Given the description of an element on the screen output the (x, y) to click on. 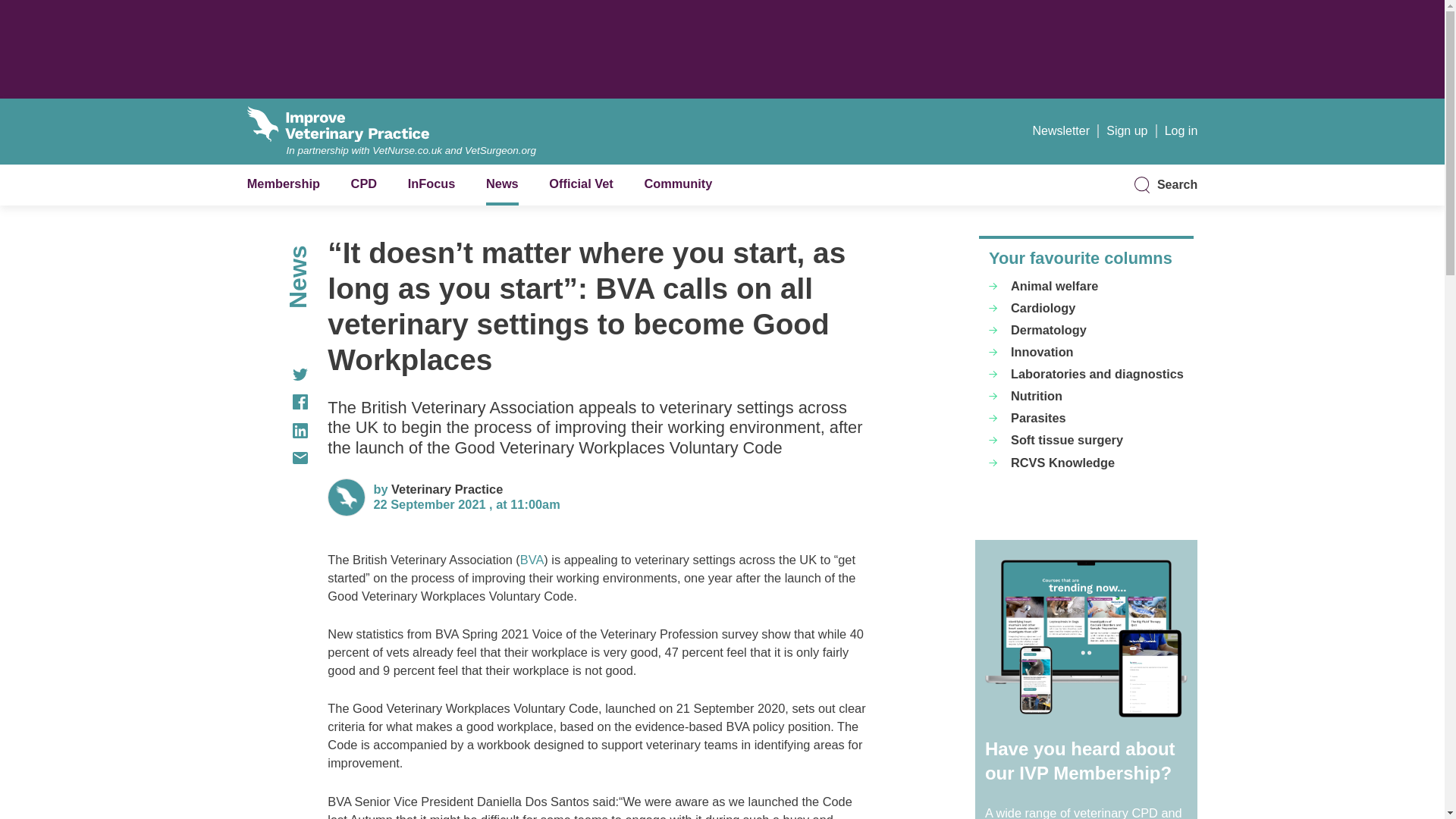
Community (677, 183)
Sign up (1126, 130)
Official Vet (580, 183)
veterinary-practice (446, 489)
Log in (1181, 130)
Membership (283, 183)
News (502, 183)
Newsletter (1060, 130)
Veterinary Practice (446, 489)
Share on Facebook (277, 401)
